Given the description of an element on the screen output the (x, y) to click on. 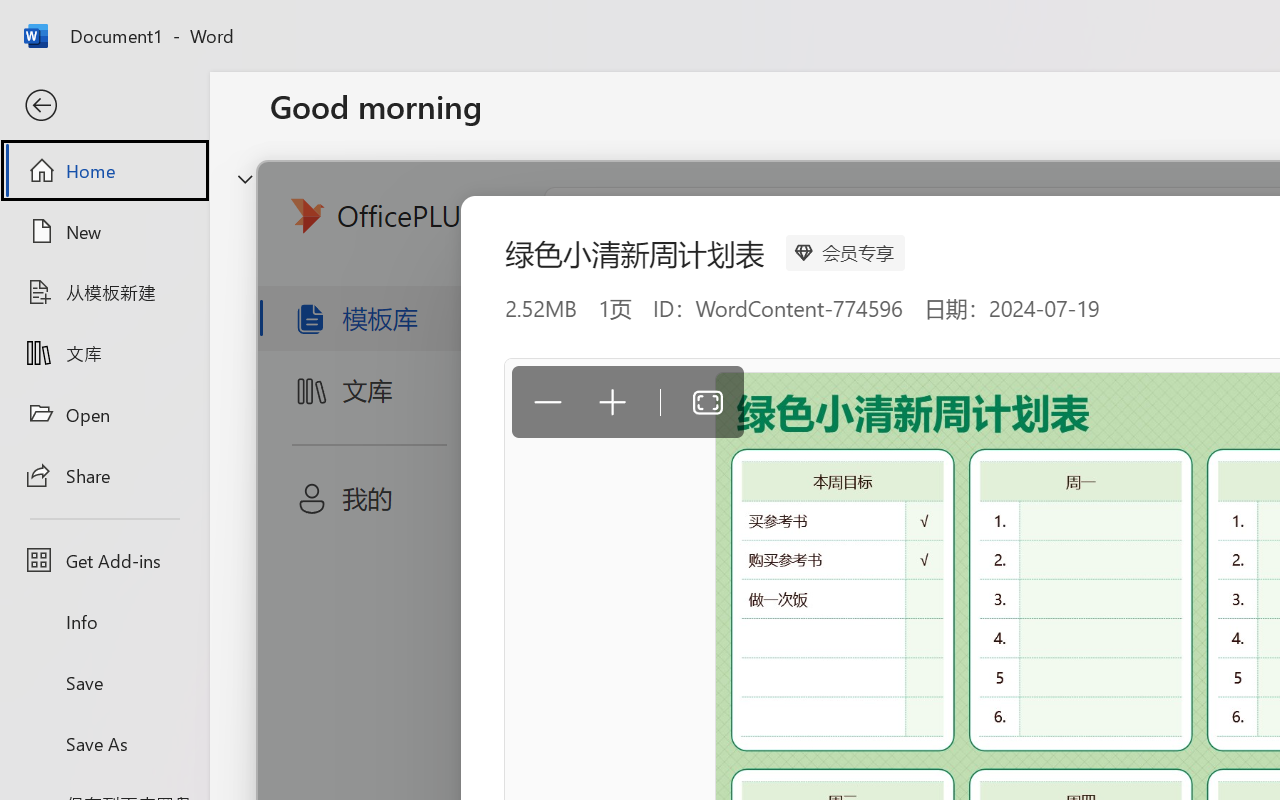
Hide or show region (245, 178)
New (104, 231)
Recent (316, 636)
Get Add-ins (104, 560)
Back (104, 106)
Blank document (405, 332)
